Given the description of an element on the screen output the (x, y) to click on. 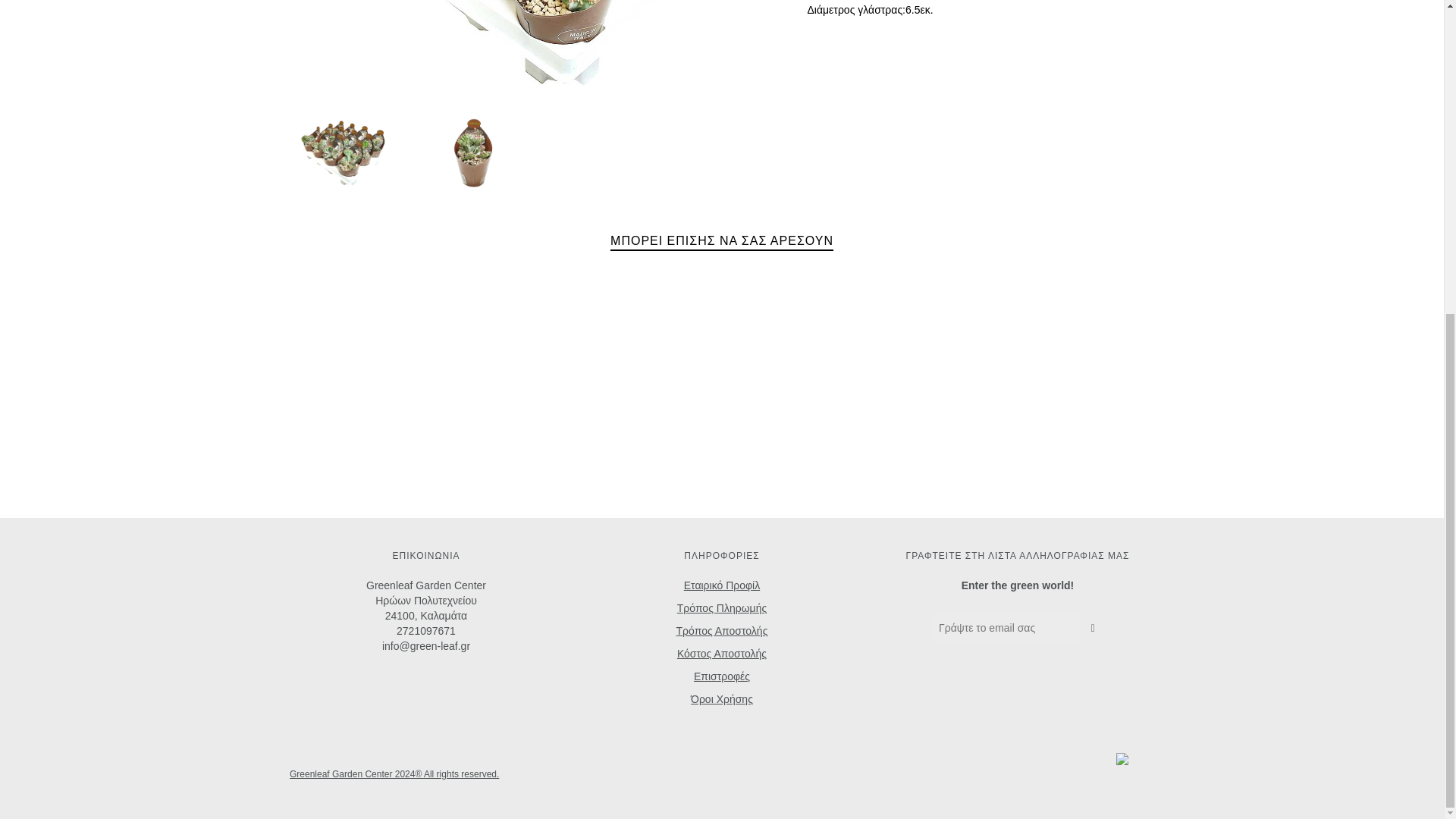
Euphorbia lactea 'cristata White Ghost'  6.5cm (472, 151)
Euphorbia lactea 'cristata White Ghost'  6.5cm (342, 151)
